Given the description of an element on the screen output the (x, y) to click on. 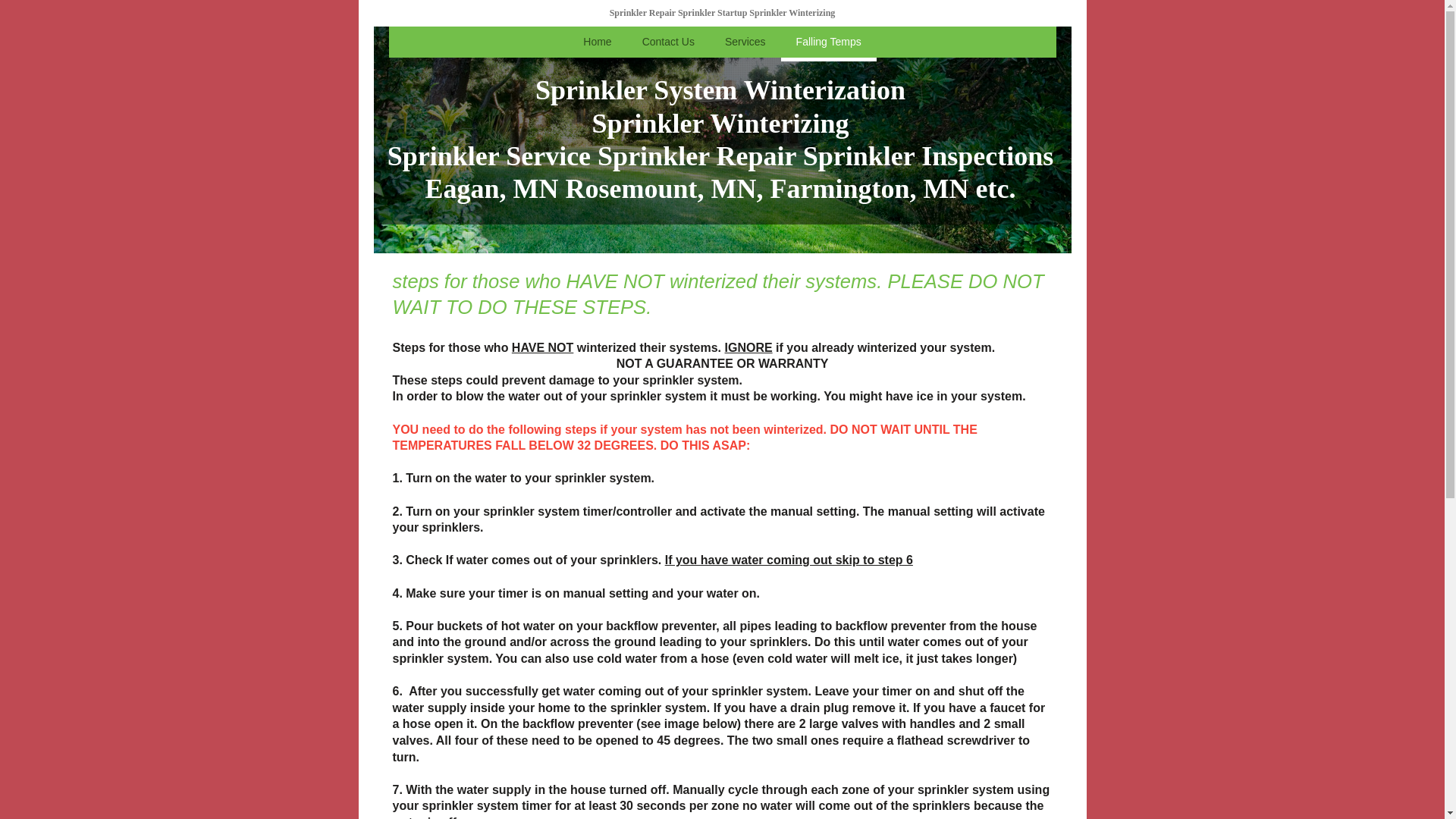
Contact Us Element type: text (668, 43)
Services Element type: text (745, 43)
Home Element type: text (596, 43)
Sprinkler Repair Sprinkler Startup Sprinkler Winterizing Element type: text (722, 12)
Falling Temps Element type: text (828, 43)
